Given the description of an element on the screen output the (x, y) to click on. 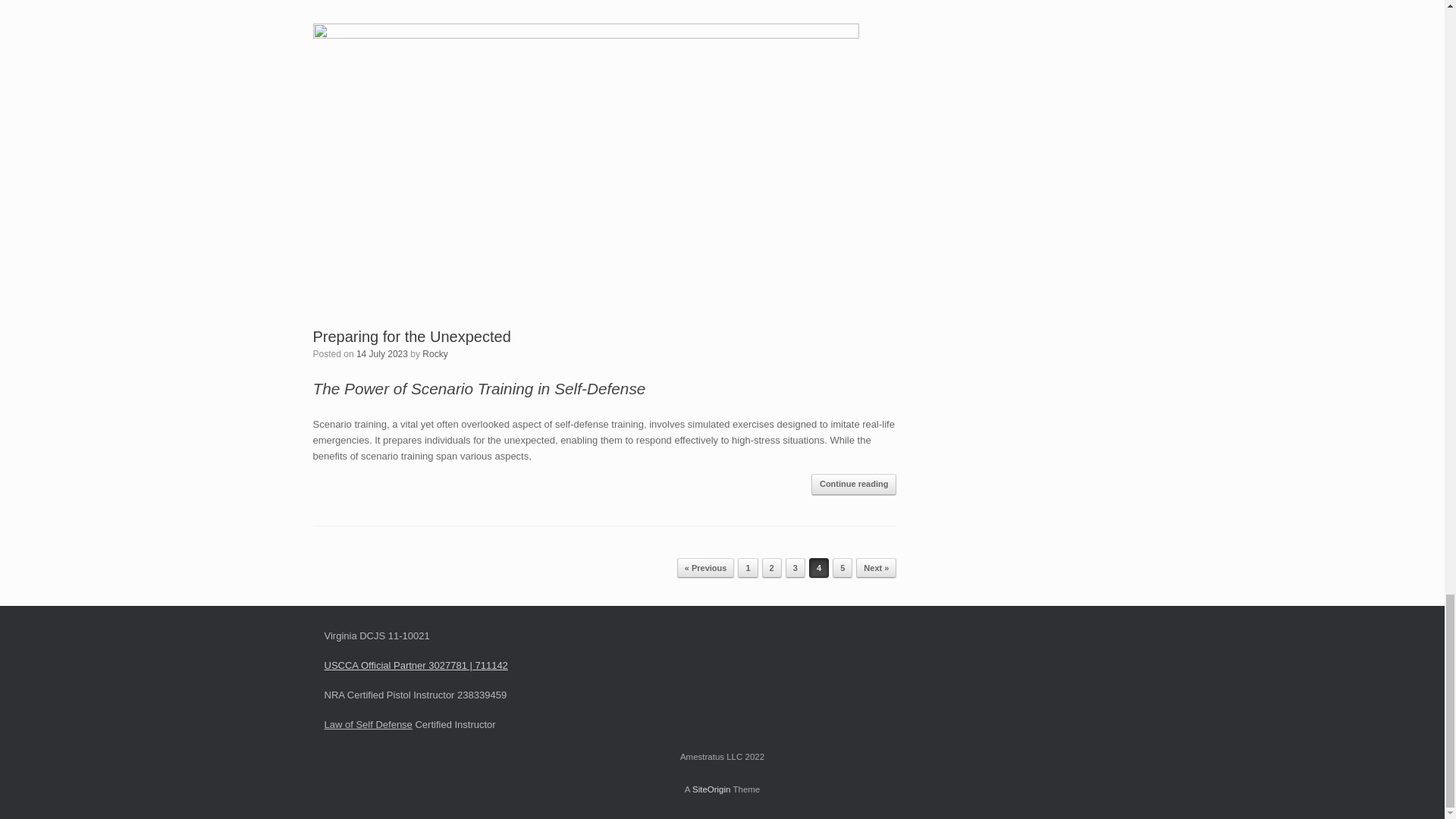
Preparing for the Unexpected (412, 336)
1 (747, 567)
Continue reading (853, 484)
Permalink to Preparing for the Unexpected (412, 336)
14 July 2023 (381, 353)
Rocky (434, 353)
2 (771, 567)
